Given the description of an element on the screen output the (x, y) to click on. 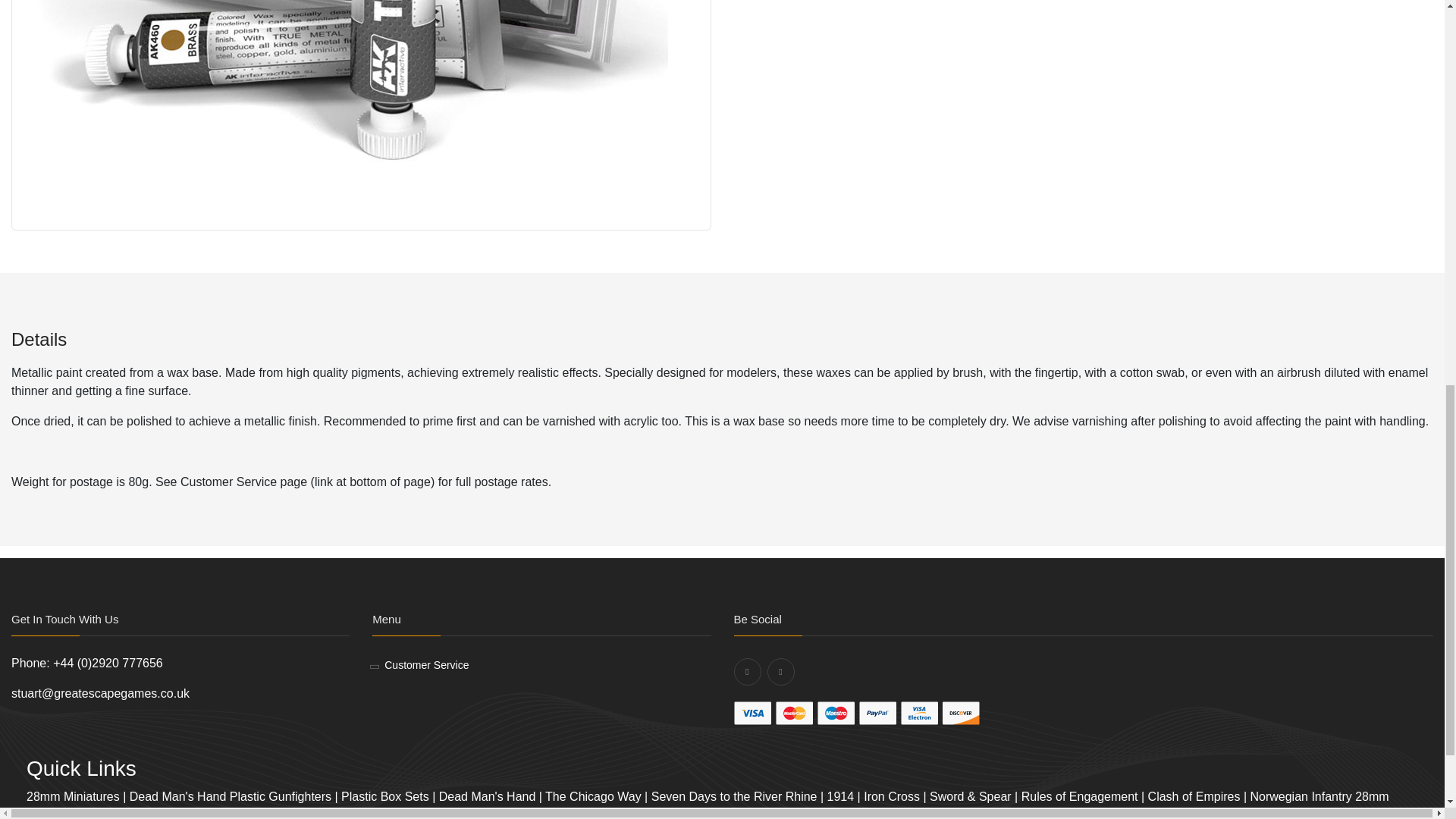
Customer Service (426, 665)
